Given the description of an element on the screen output the (x, y) to click on. 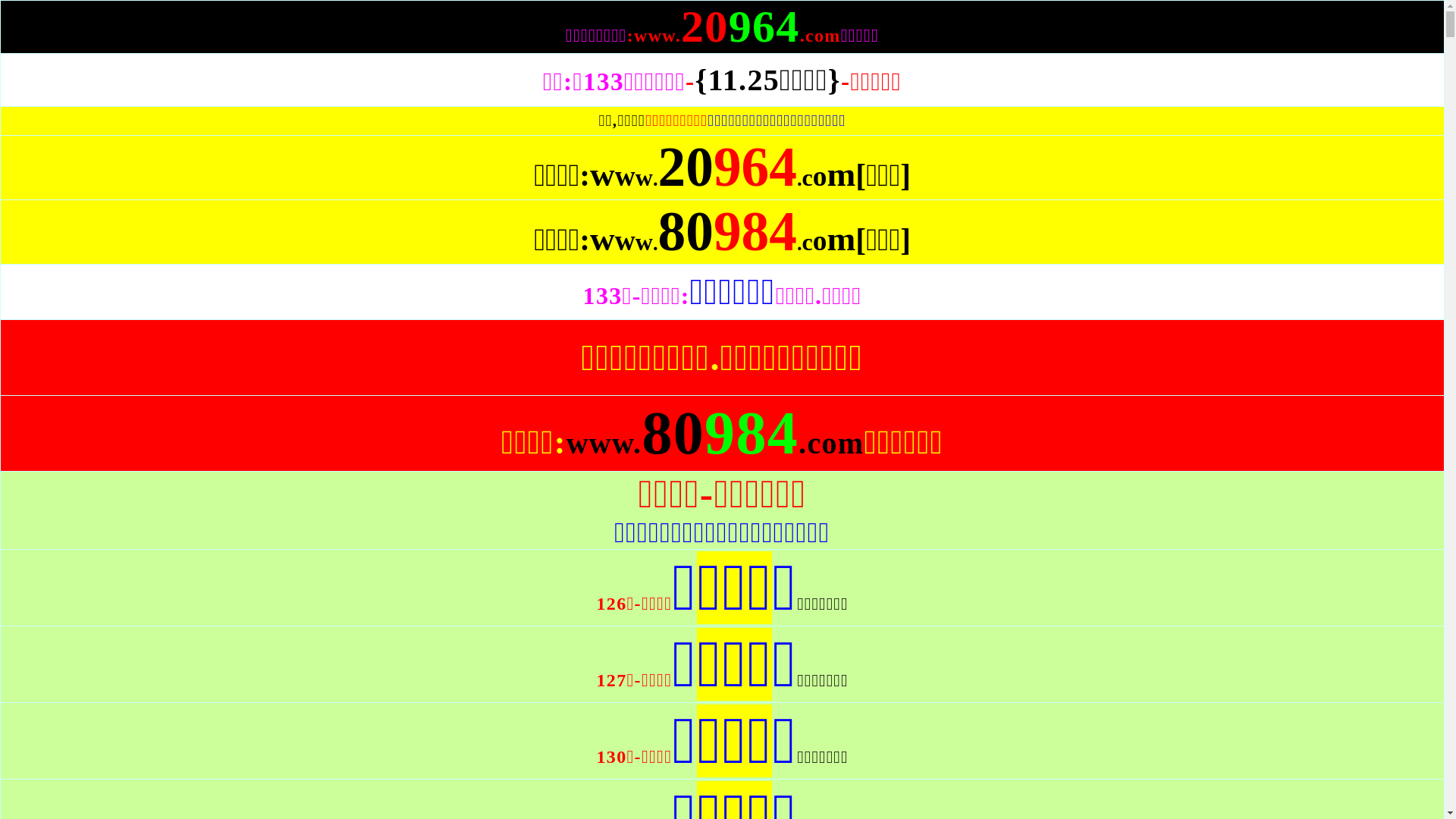
80984 Element type: text (727, 246)
